Given the description of an element on the screen output the (x, y) to click on. 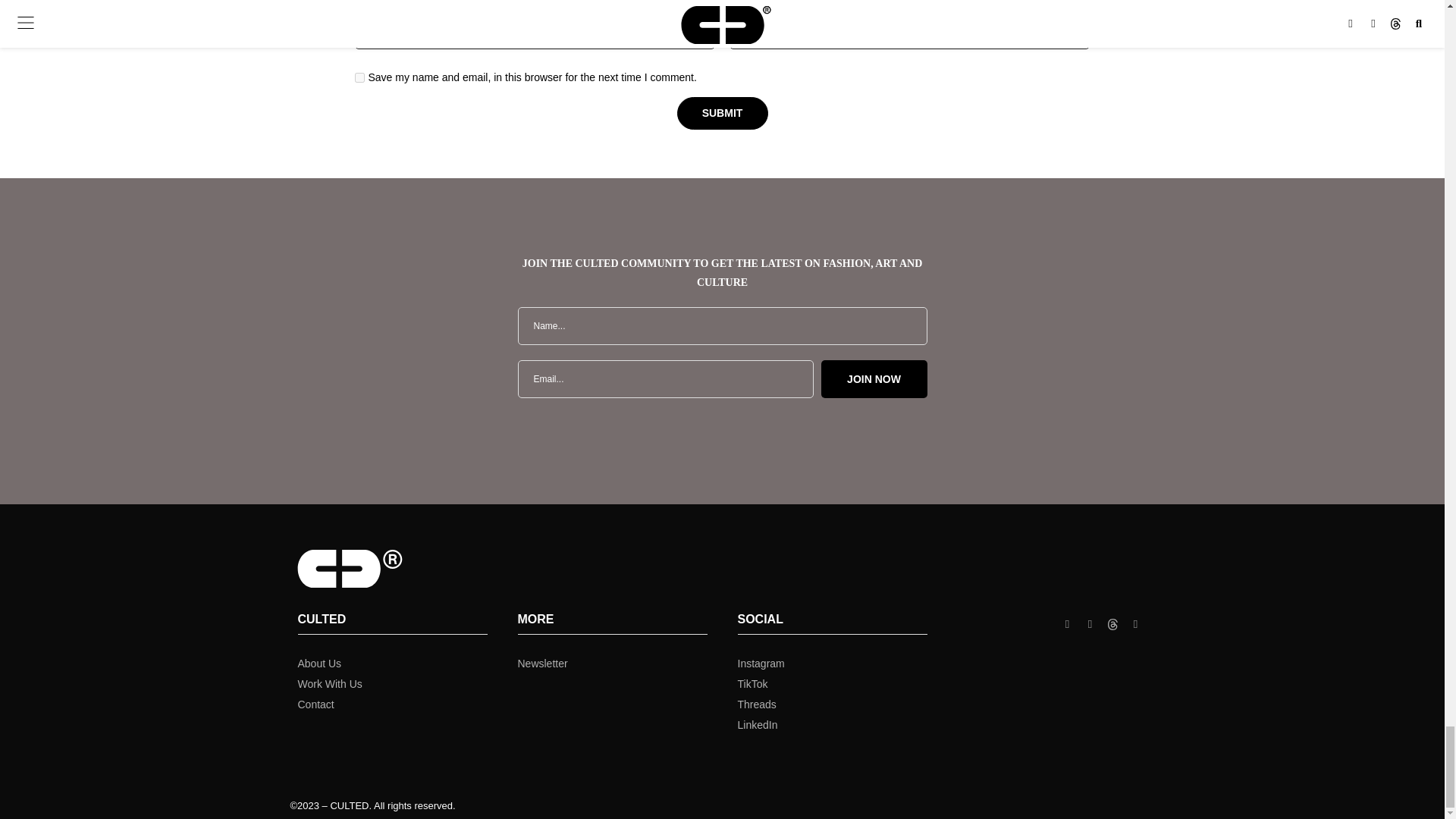
Submit (722, 113)
JOIN NOW (873, 379)
yes (360, 77)
